Given the description of an element on the screen output the (x, y) to click on. 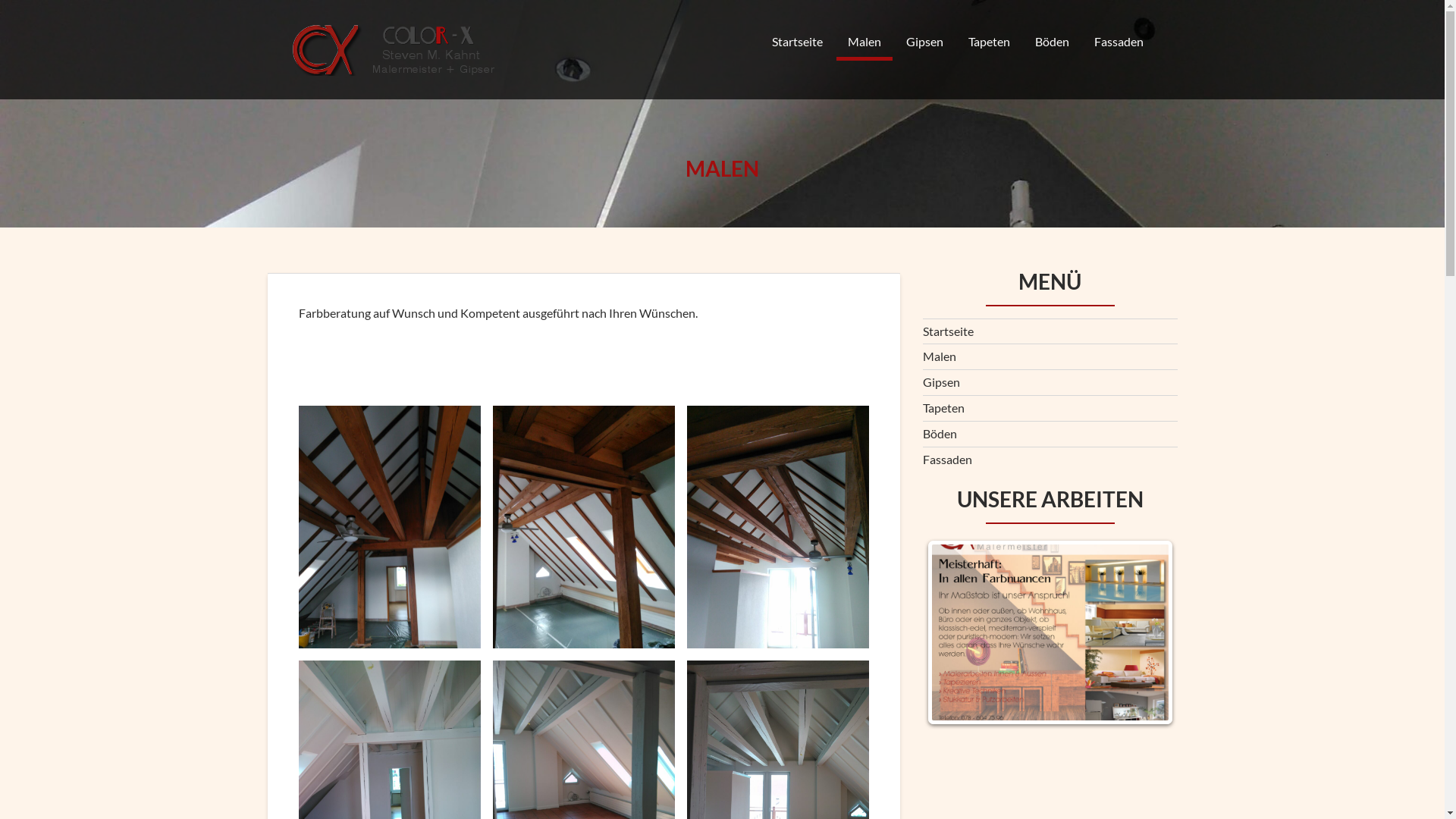
Startseite Element type: text (796, 41)
Skip to content Element type: text (0, 0)
Malen Element type: text (938, 355)
Fassaden Element type: text (946, 458)
Gipsen Element type: text (924, 41)
Malen Element type: text (863, 41)
Startseite Element type: text (947, 330)
Tapeten Element type: text (942, 407)
Tapeten Element type: text (989, 41)
Gipsen Element type: text (940, 381)
Fassaden Element type: text (1118, 41)
